Given the description of an element on the screen output the (x, y) to click on. 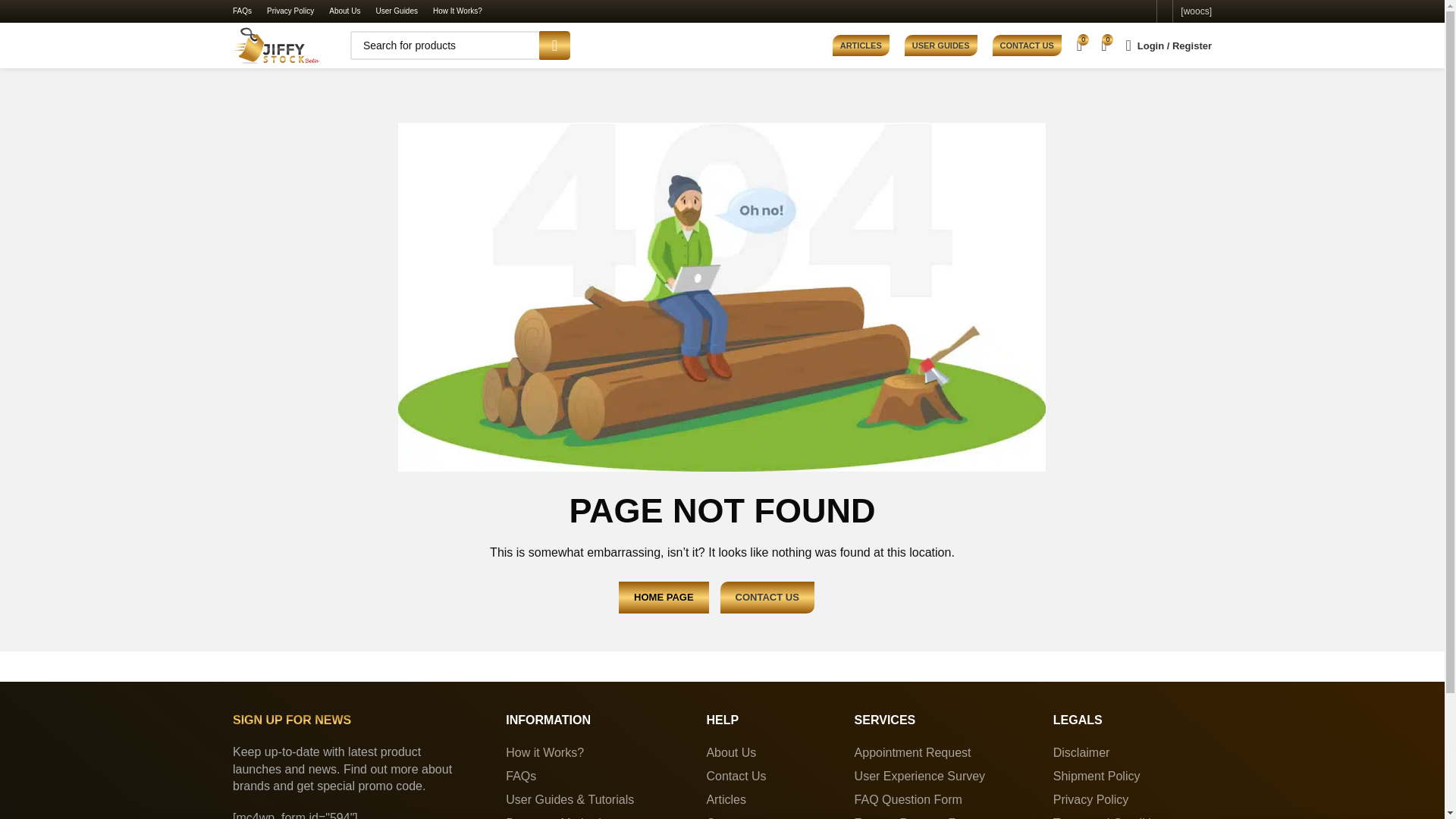
Privacy Policy (290, 13)
ARTICLES (860, 45)
User Guides (396, 13)
About Us (344, 13)
My account (1169, 45)
Search for products (460, 45)
USER GUIDES (940, 45)
SEARCH (554, 45)
CONTACT US (1026, 45)
How It Works? (456, 13)
